Given the description of an element on the screen output the (x, y) to click on. 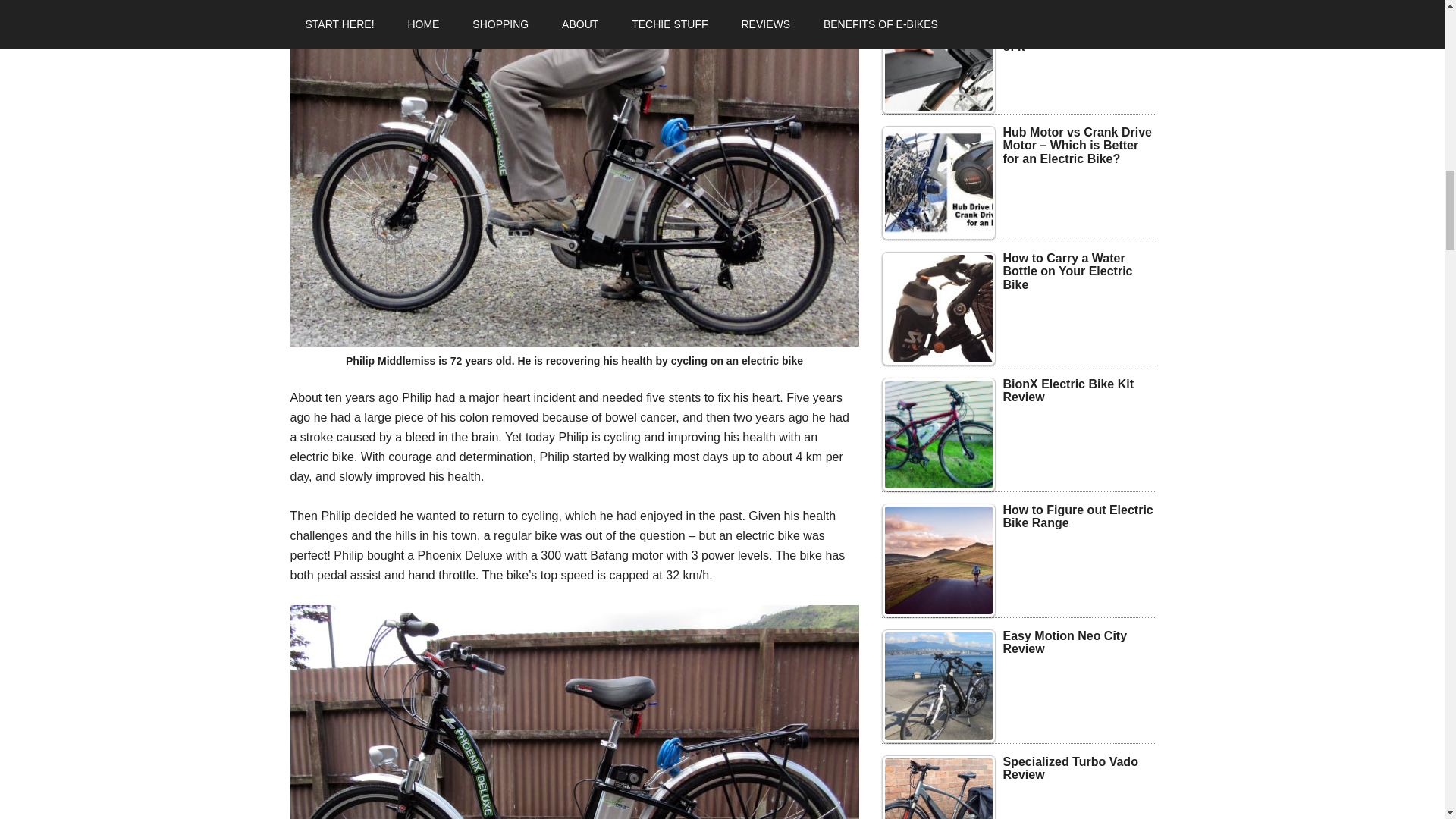
How to Figure out Electric Bike Range (937, 560)
Easy Motion Neo City Review (937, 685)
BionX Electric Bike Kit Review (937, 434)
How to Carry a Water Bottle on Your Electric Bike (937, 308)
Specialized Turbo Vado Review (937, 787)
